Given the description of an element on the screen output the (x, y) to click on. 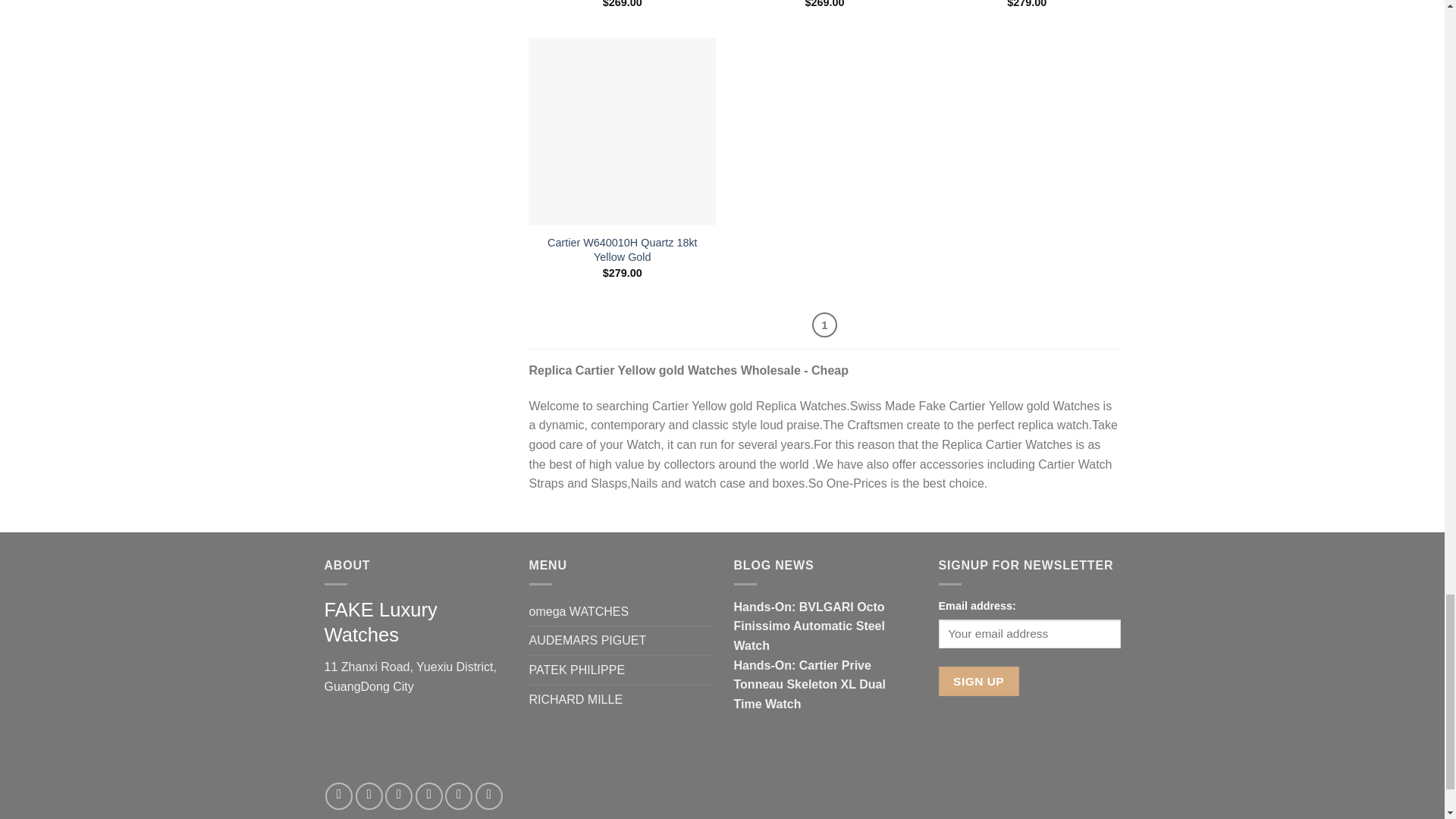
Follow on Twitter (398, 795)
Sign up (979, 681)
Call us (458, 795)
Follow on Facebook (338, 795)
Send us an email (428, 795)
Follow on Instagram (368, 795)
Follow on YouTube (489, 795)
